Given the description of an element on the screen output the (x, y) to click on. 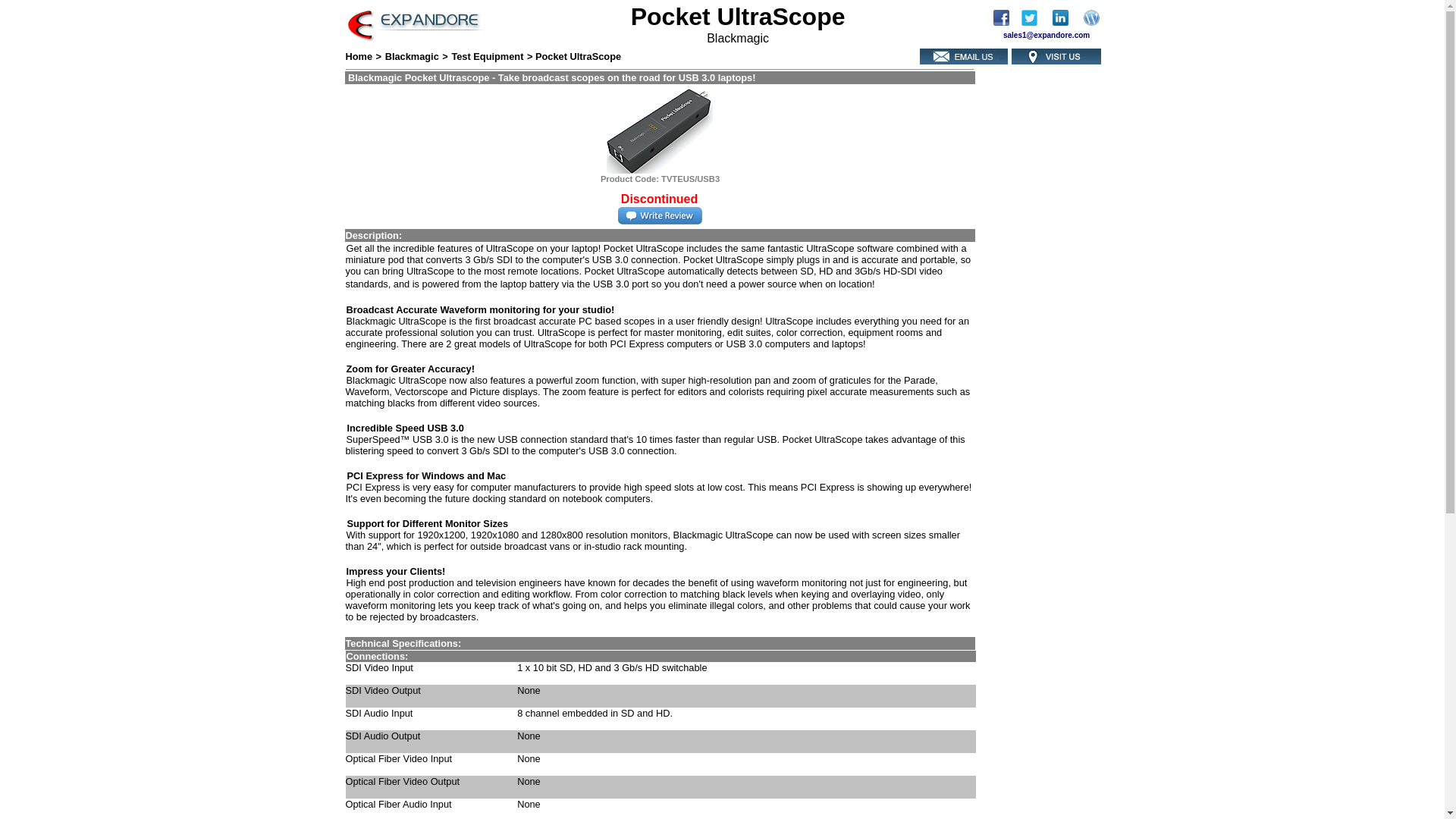
Blackmagic (412, 56)
Home (359, 56)
Expandore Electronics (1066, 21)
Test Equipment (486, 56)
twitter (1030, 21)
Pocket Ultrascope (660, 130)
Expandore Electronics (1005, 21)
